Given the description of an element on the screen output the (x, y) to click on. 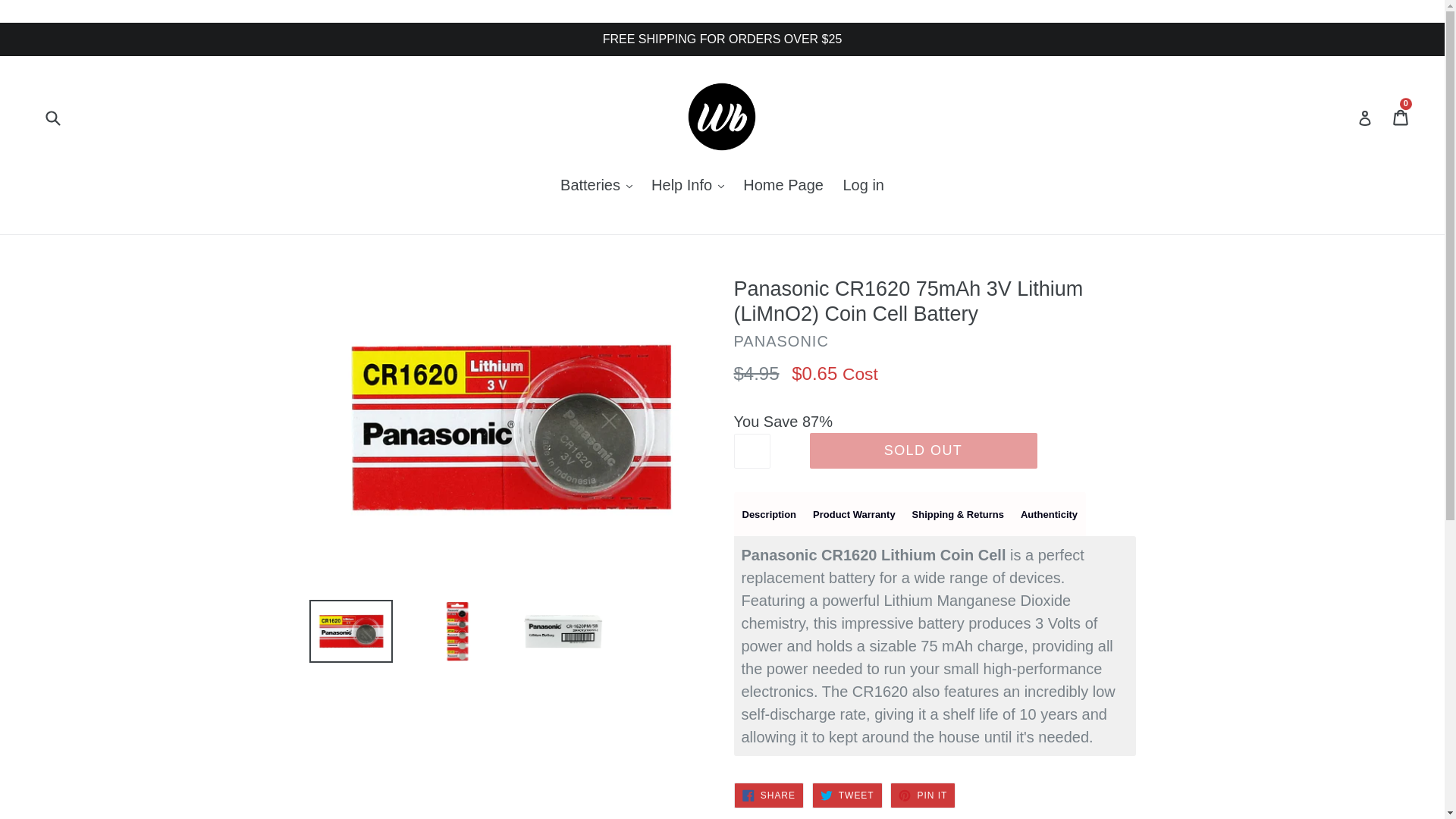
Share on Facebook (768, 795)
Pin on Pinterest (922, 795)
Tweet on Twitter (847, 795)
